Given the description of an element on the screen output the (x, y) to click on. 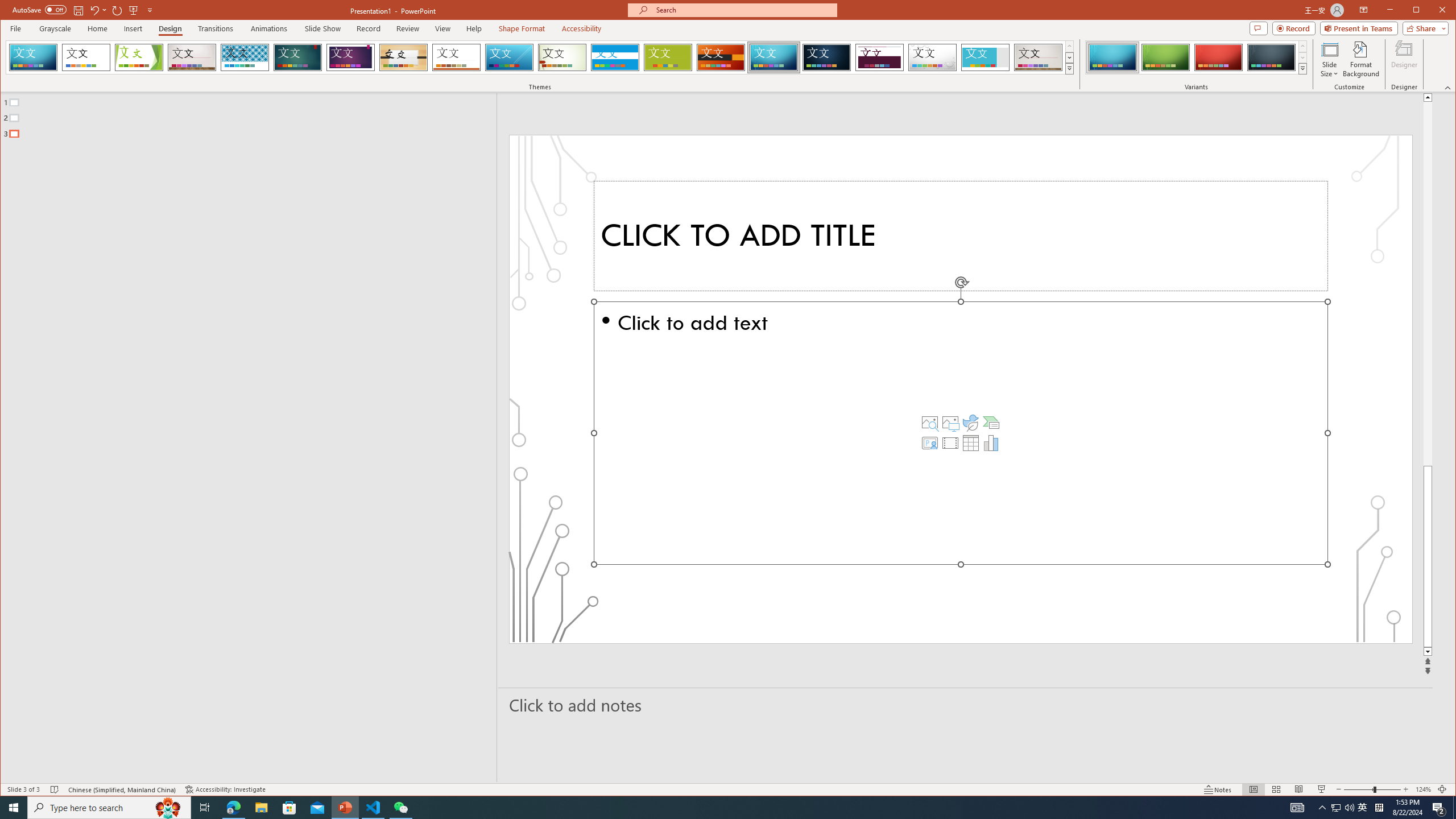
Banded (615, 57)
Wisp (561, 57)
Circuit Variant 1 (1112, 57)
Format Background (1360, 59)
Organic (403, 57)
